Given the description of an element on the screen output the (x, y) to click on. 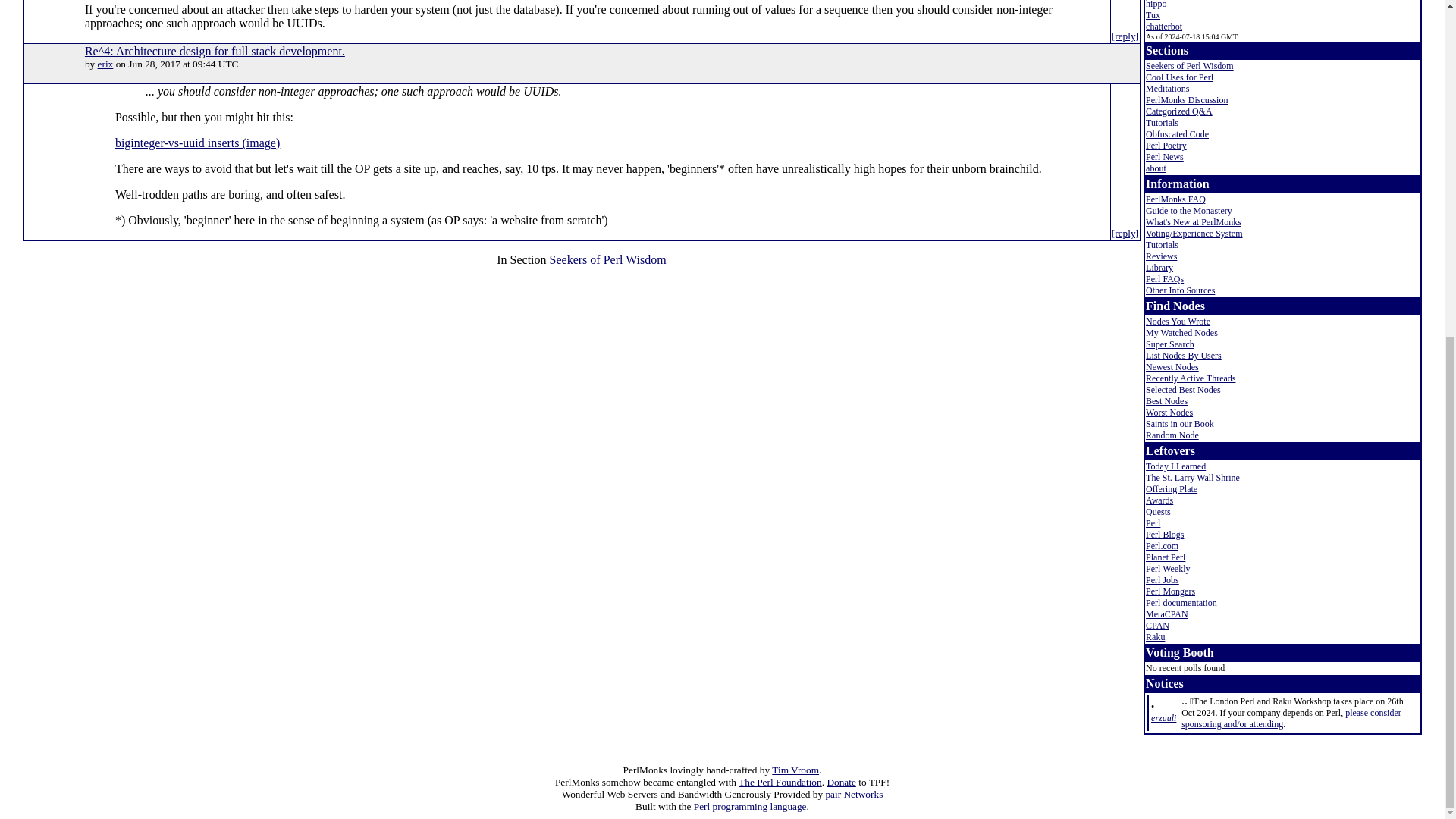
hippo's home node. Level 23. Member of: QandAEditors (1155, 4)
2024-05-30 14:23:36 (1163, 717)
chatterbot's home node. Level 1 (1163, 26)
Tux's home node. Level 20 (1152, 14)
erix (105, 63)
